Given the description of an element on the screen output the (x, y) to click on. 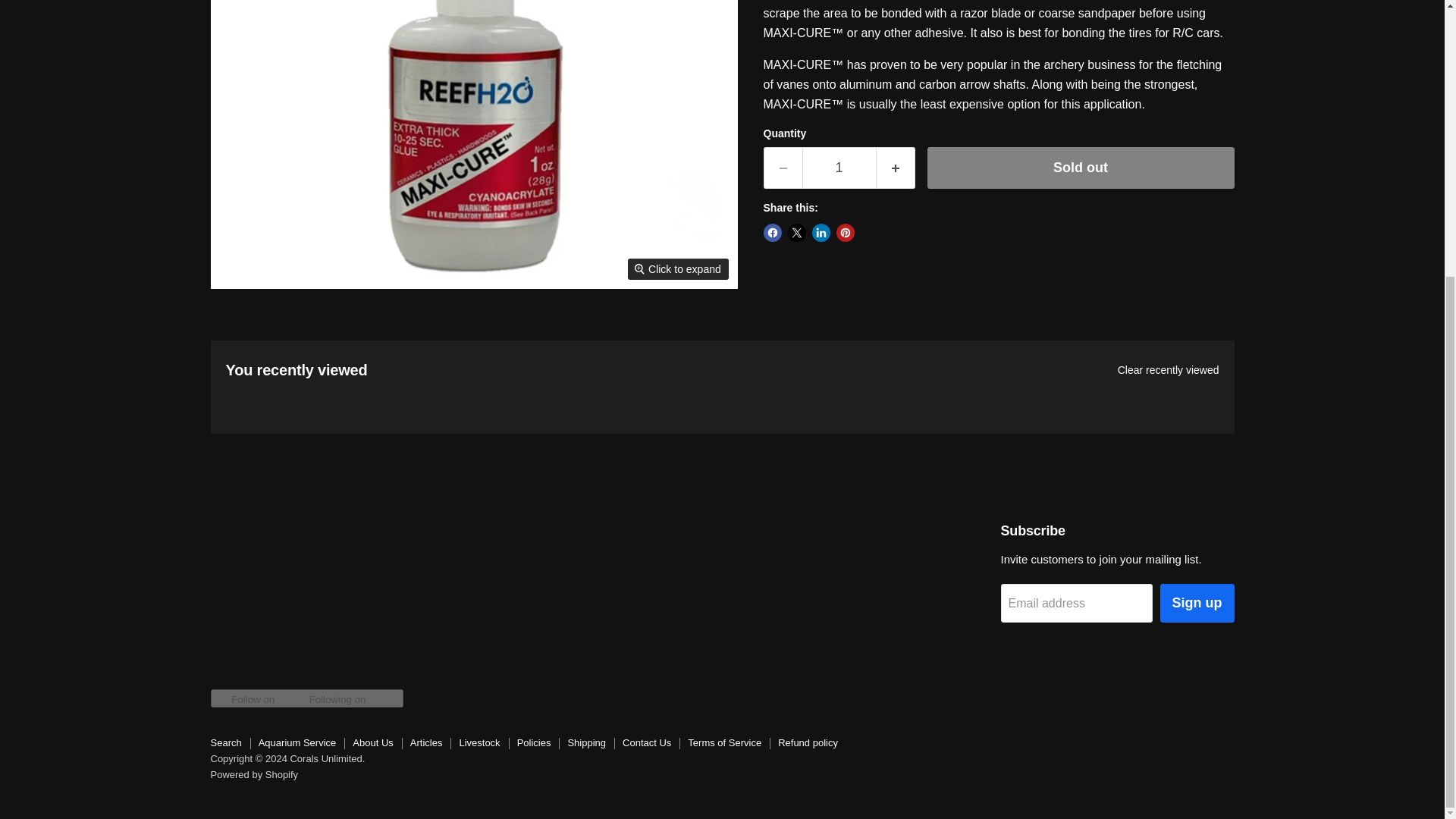
1 (839, 168)
